Given the description of an element on the screen output the (x, y) to click on. 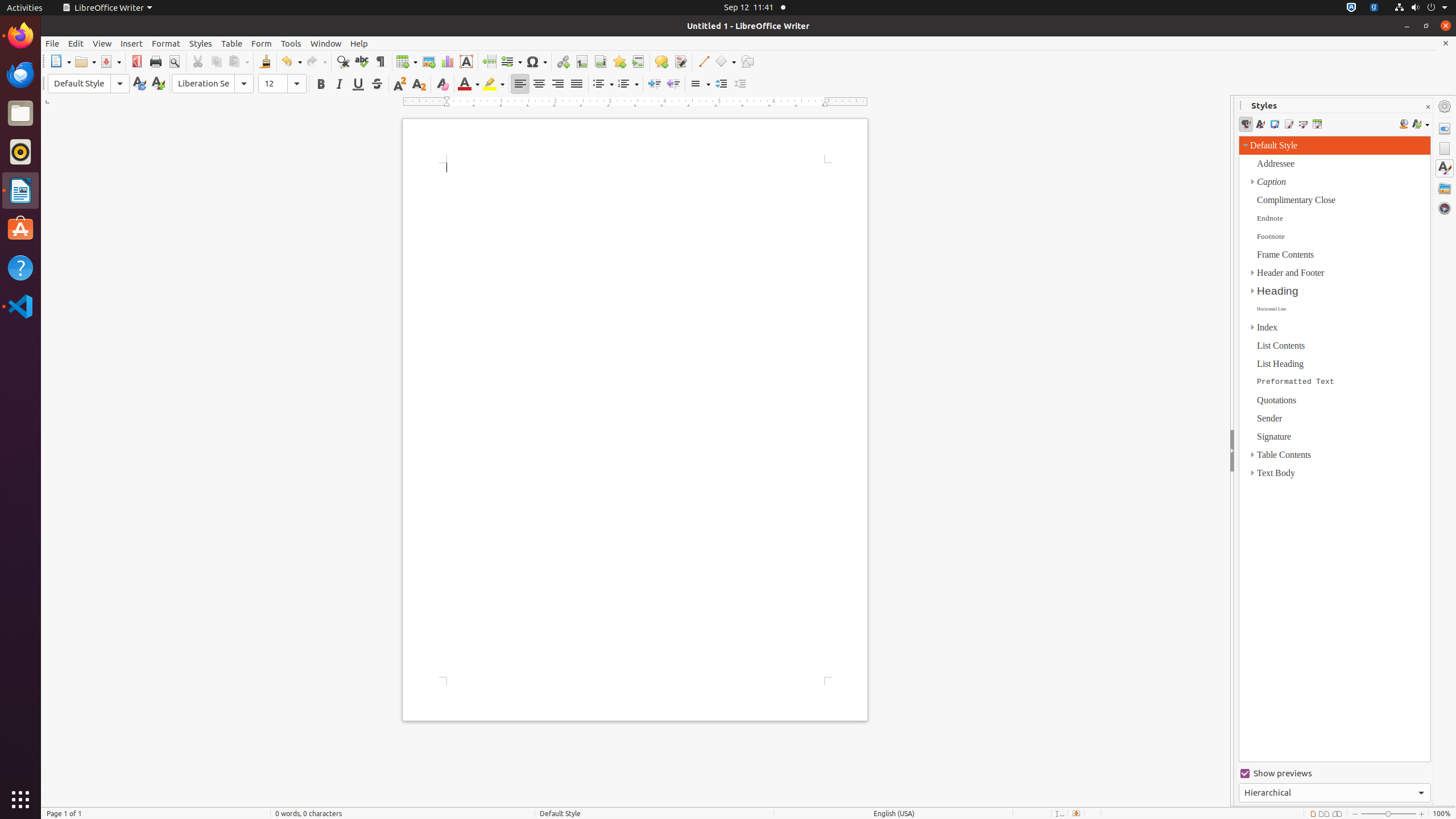
System Element type: menu (1420, 7)
Frame Styles Element type: push-button (1274, 123)
Basic Shapes Element type: push-button (724, 61)
Page Styles Element type: push-button (1288, 123)
Font Name Element type: panel (212, 83)
